Given the description of an element on the screen output the (x, y) to click on. 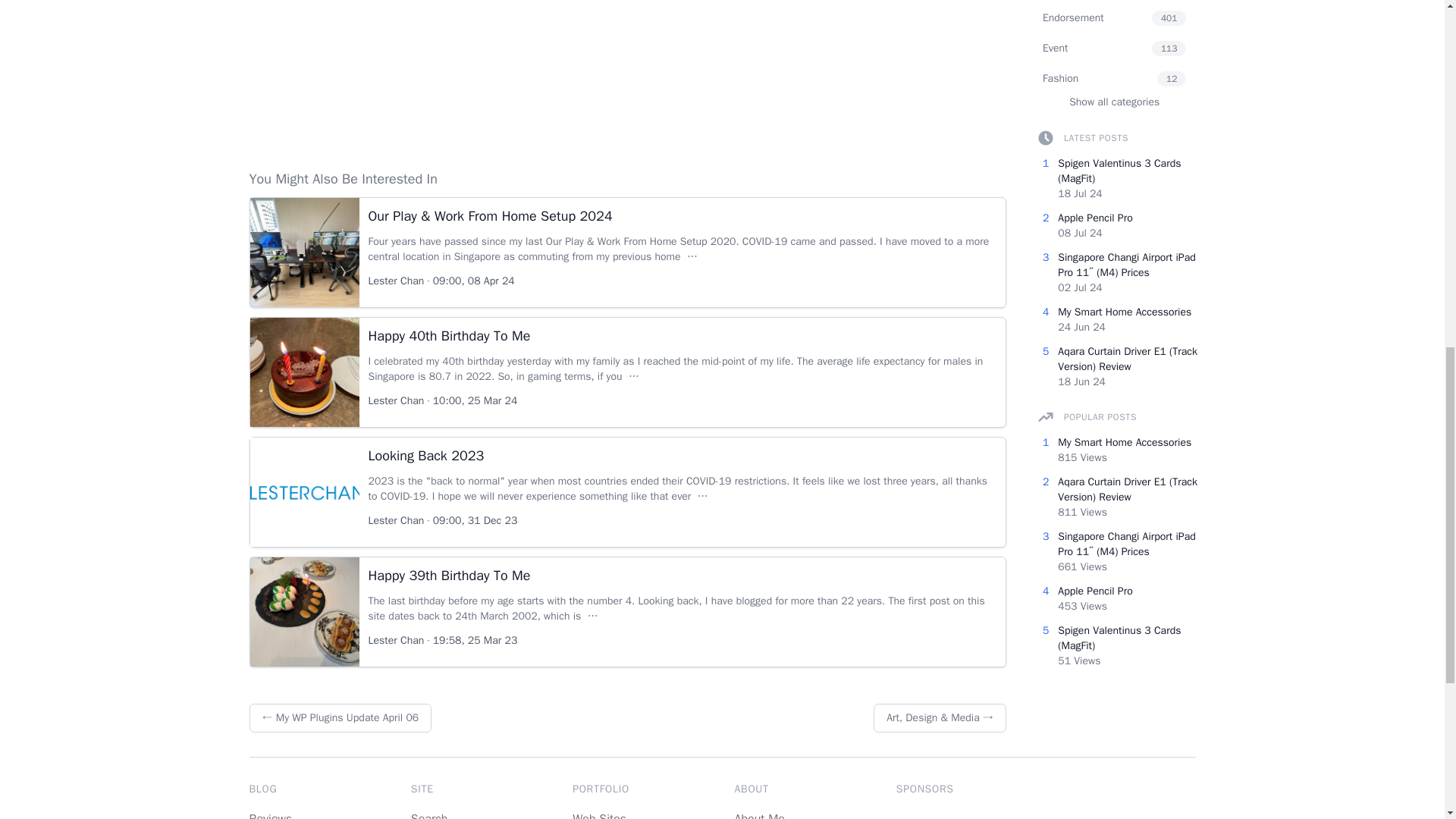
Advertisement (627, 66)
